Given the description of an element on the screen output the (x, y) to click on. 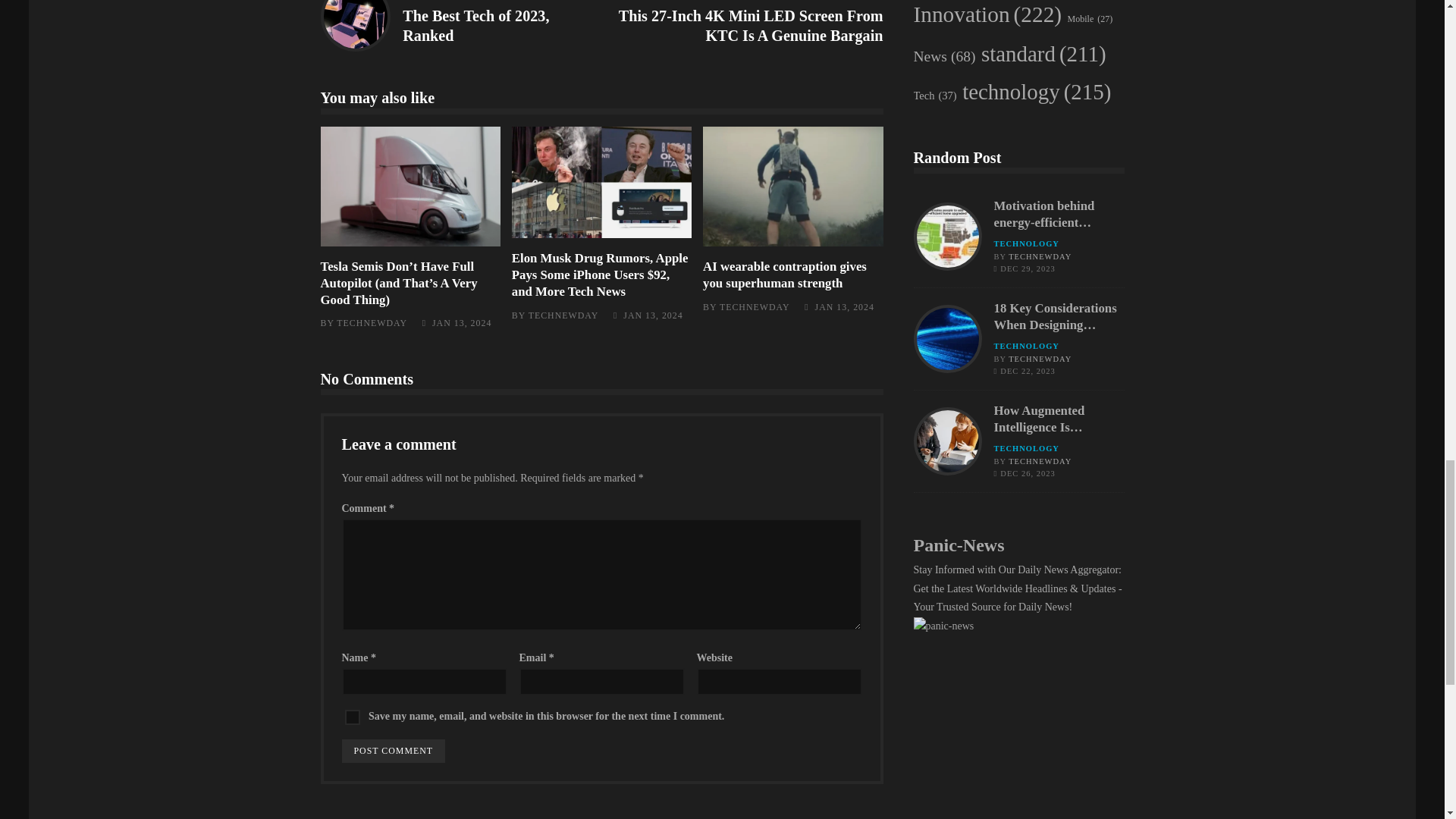
Post Comment (392, 750)
TECHNEWDAY (563, 315)
yes (351, 717)
AI wearable contraption gives you superhuman strength (784, 274)
TECHNEWDAY (371, 322)
Posts by technewday (754, 307)
AI wearable contraption gives you superhuman strength (792, 186)
Posts by technewday (563, 315)
Posts by technewday (371, 322)
